Given the description of an element on the screen output the (x, y) to click on. 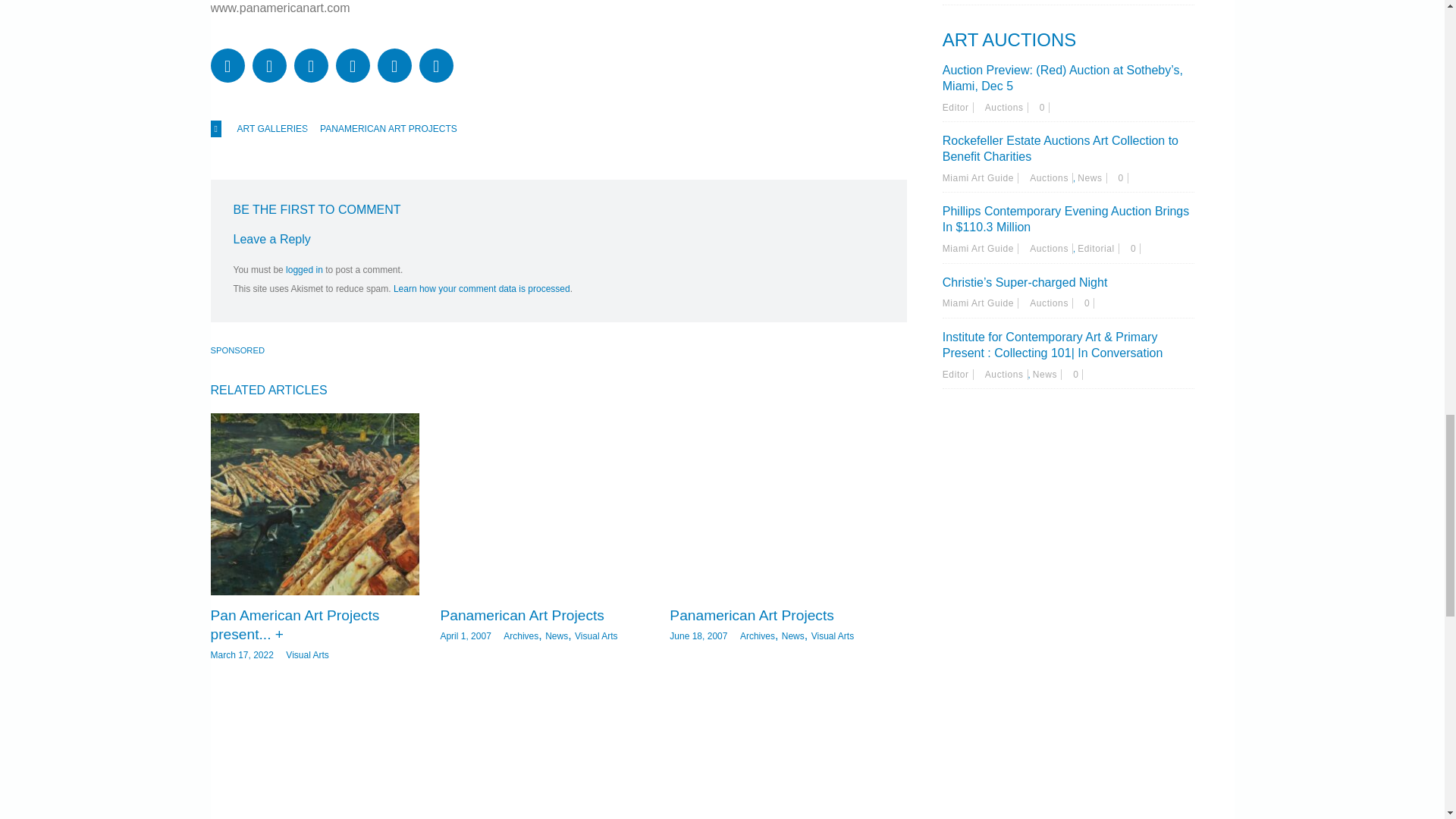
0 (1089, 303)
Panamerican Art Projects (543, 504)
0 (1078, 374)
0 (1044, 107)
Panamerican Art Projects (773, 504)
0 (1135, 248)
0 (1123, 177)
Panamerican Art Projects (521, 615)
